Given the description of an element on the screen output the (x, y) to click on. 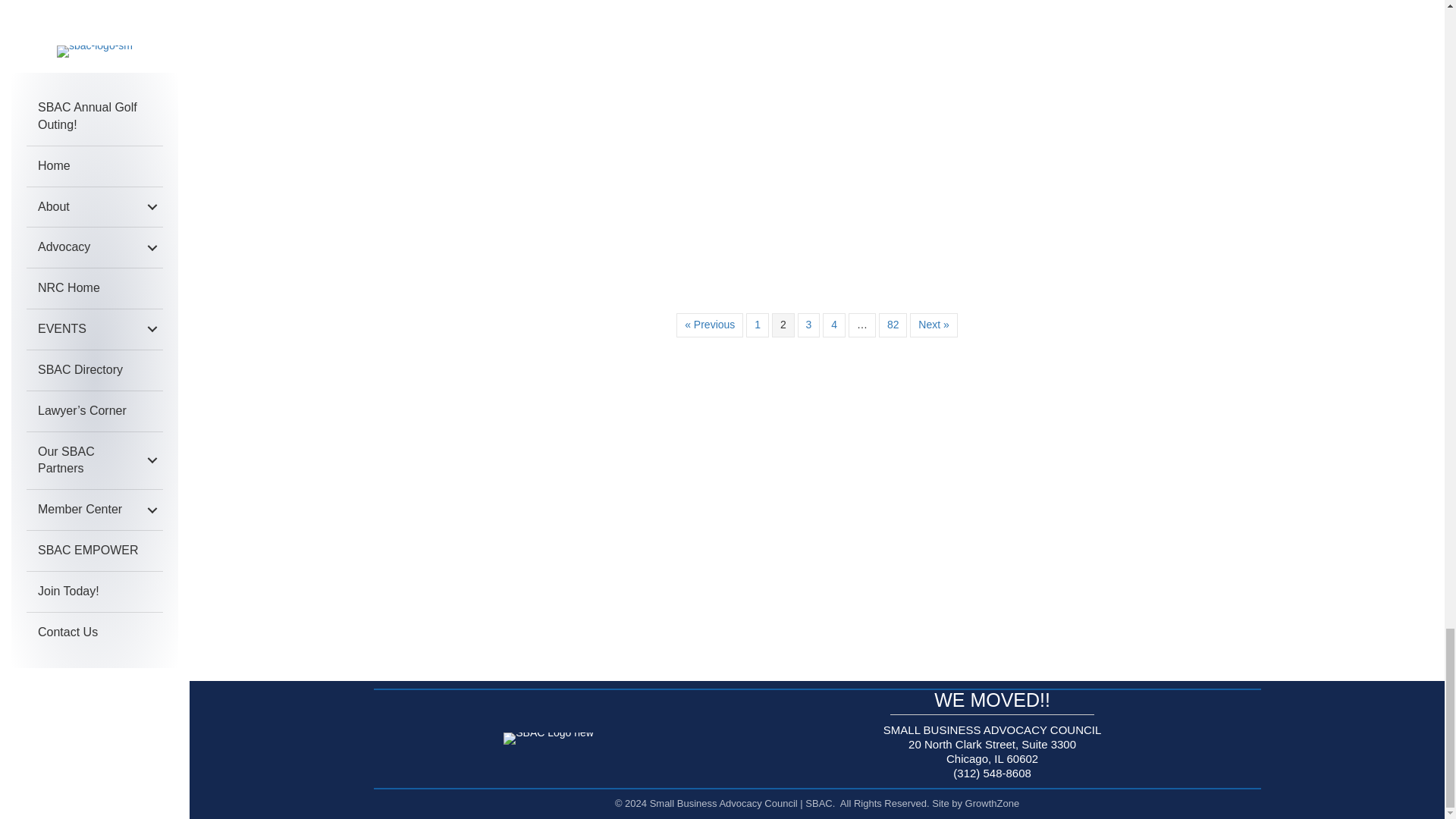
SBAC Logo new (548, 738)
